Given the description of an element on the screen output the (x, y) to click on. 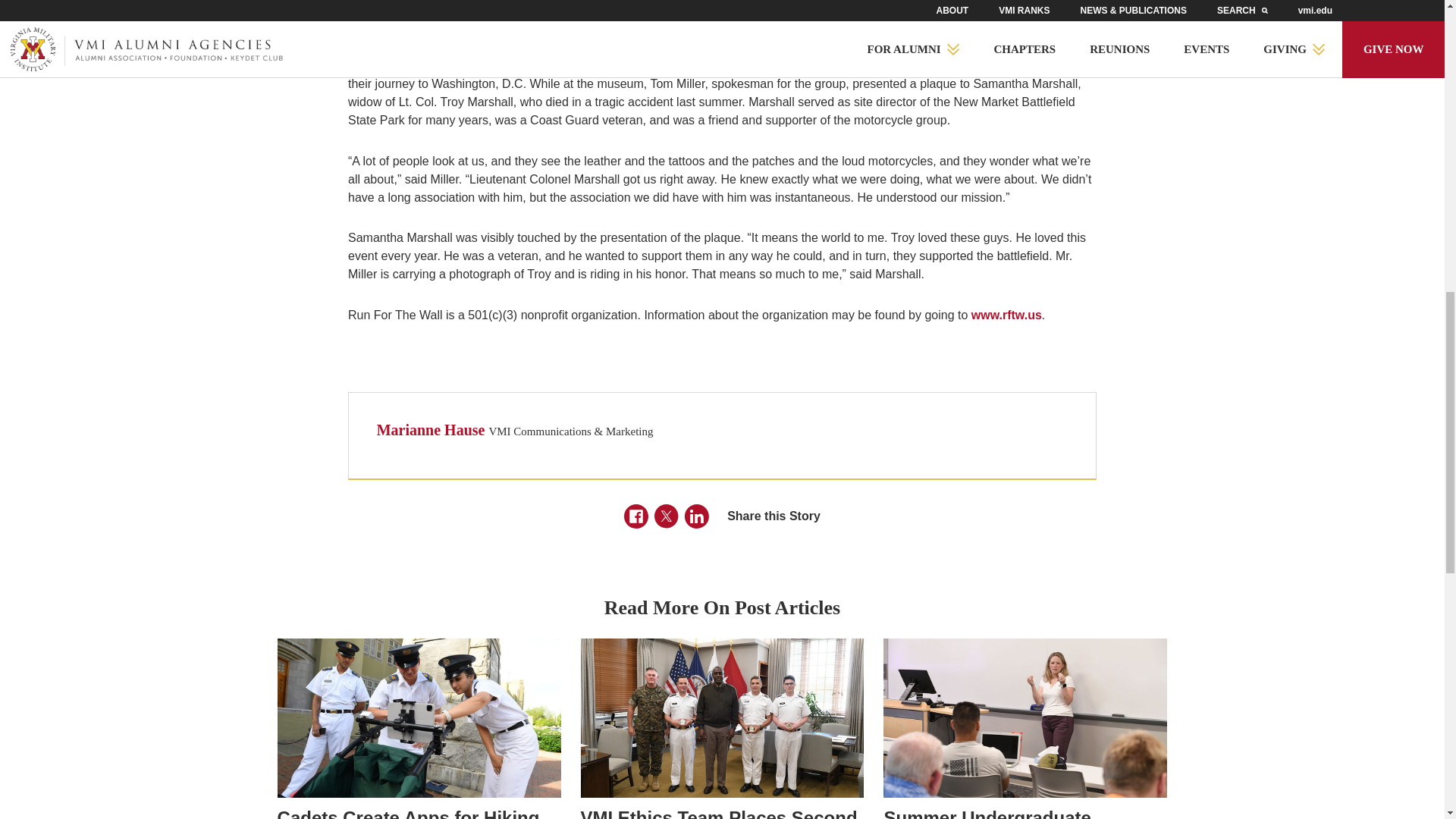
Twitter (665, 516)
www.rftw.us (1006, 314)
linkedin (696, 516)
LinkedIn (696, 516)
Facebook (635, 516)
Cadets Create Apps for Hiking Trails (419, 813)
twitter (665, 516)
facebook (635, 516)
VMI Ethics Team Places Second in Military Competition (722, 813)
